Given the description of an element on the screen output the (x, y) to click on. 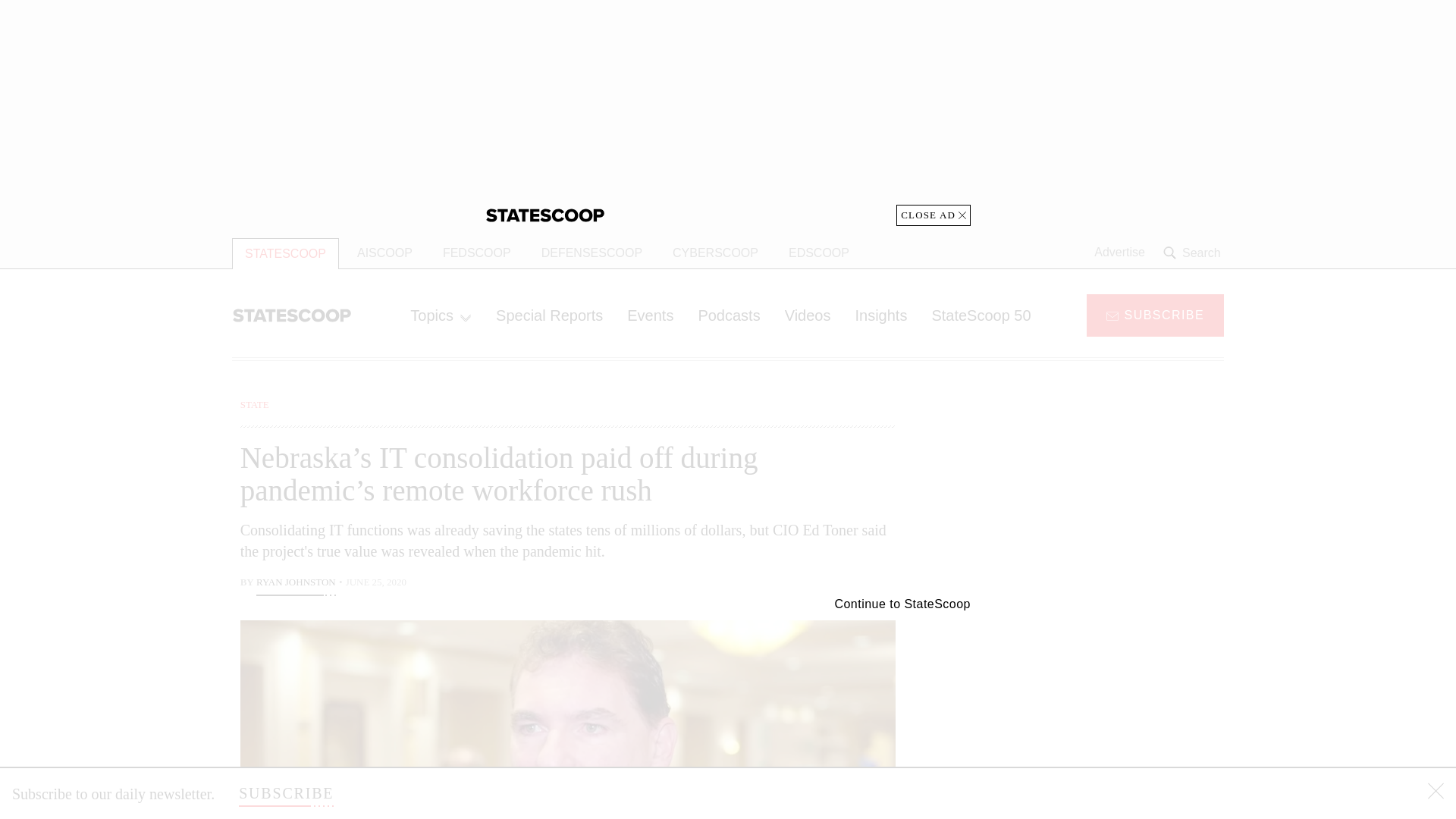
Topics (440, 315)
Videos (808, 315)
DEFENSESCOOP (591, 253)
Special Reports (548, 315)
StateScoop 50 (980, 315)
Podcasts (728, 315)
Insights (880, 315)
AISCOOP (385, 253)
STATE (254, 404)
SUBSCRIBE (285, 793)
FEDSCOOP (476, 253)
3rd party ad content (1101, 492)
CYBERSCOOP (715, 253)
STATESCOOP (285, 253)
